Given the description of an element on the screen output the (x, y) to click on. 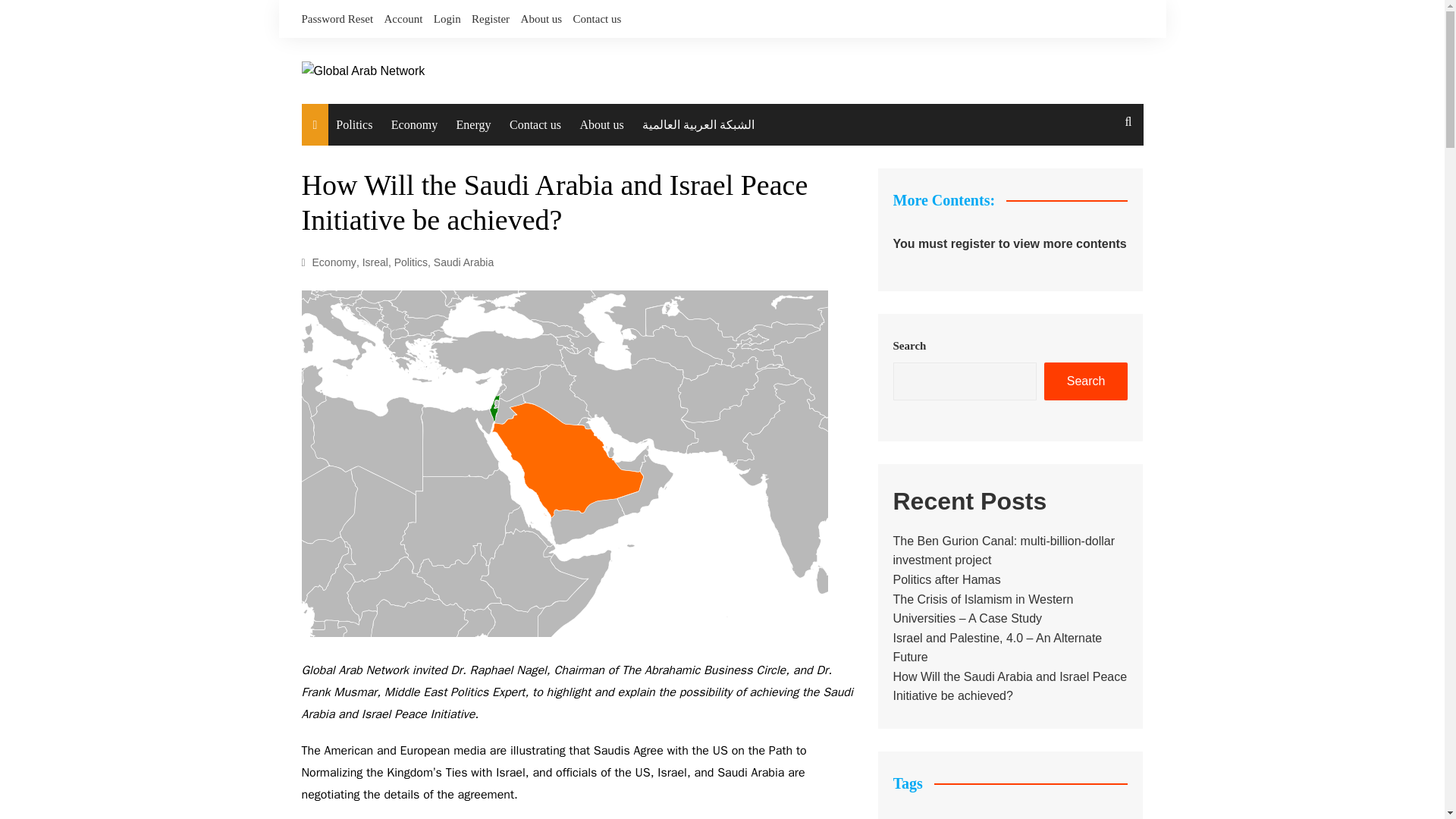
Economy (334, 262)
Register (490, 18)
Politics (411, 262)
Login (447, 18)
Economy (414, 125)
Account (403, 18)
Energy (473, 125)
About us (601, 125)
Password Reset (337, 18)
Contact us (597, 18)
